Given the description of an element on the screen output the (x, y) to click on. 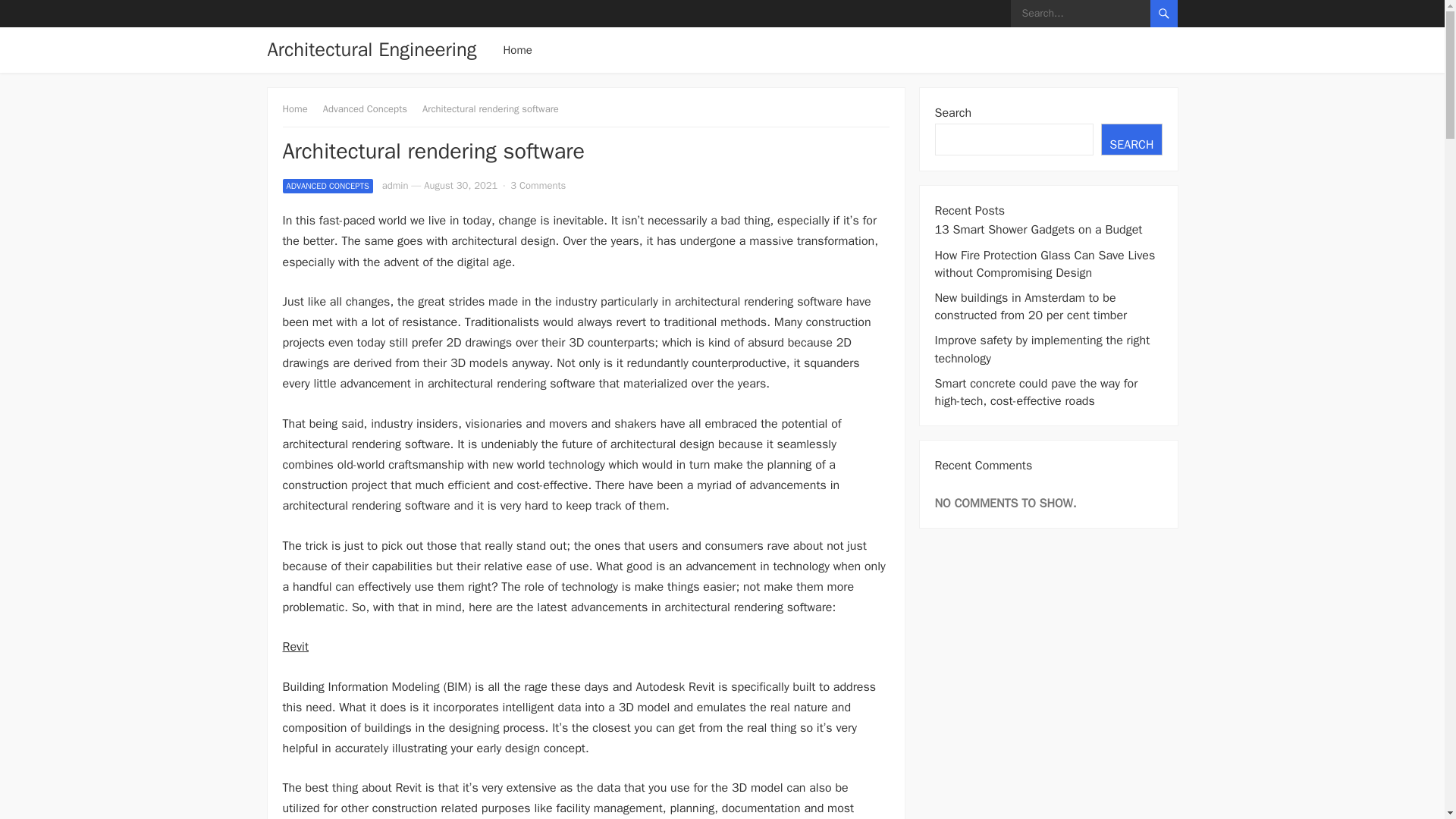
Architectural Engineering (371, 49)
Improve safety by implementing the right technology (1042, 348)
SEARCH (1130, 139)
13 Smart Shower Gadgets on a Budget (1037, 229)
admin (395, 185)
Posts by admin (395, 185)
Home (299, 108)
Advanced Concepts (370, 108)
3 Comments (538, 185)
ADVANCED CONCEPTS (327, 186)
